Given the description of an element on the screen output the (x, y) to click on. 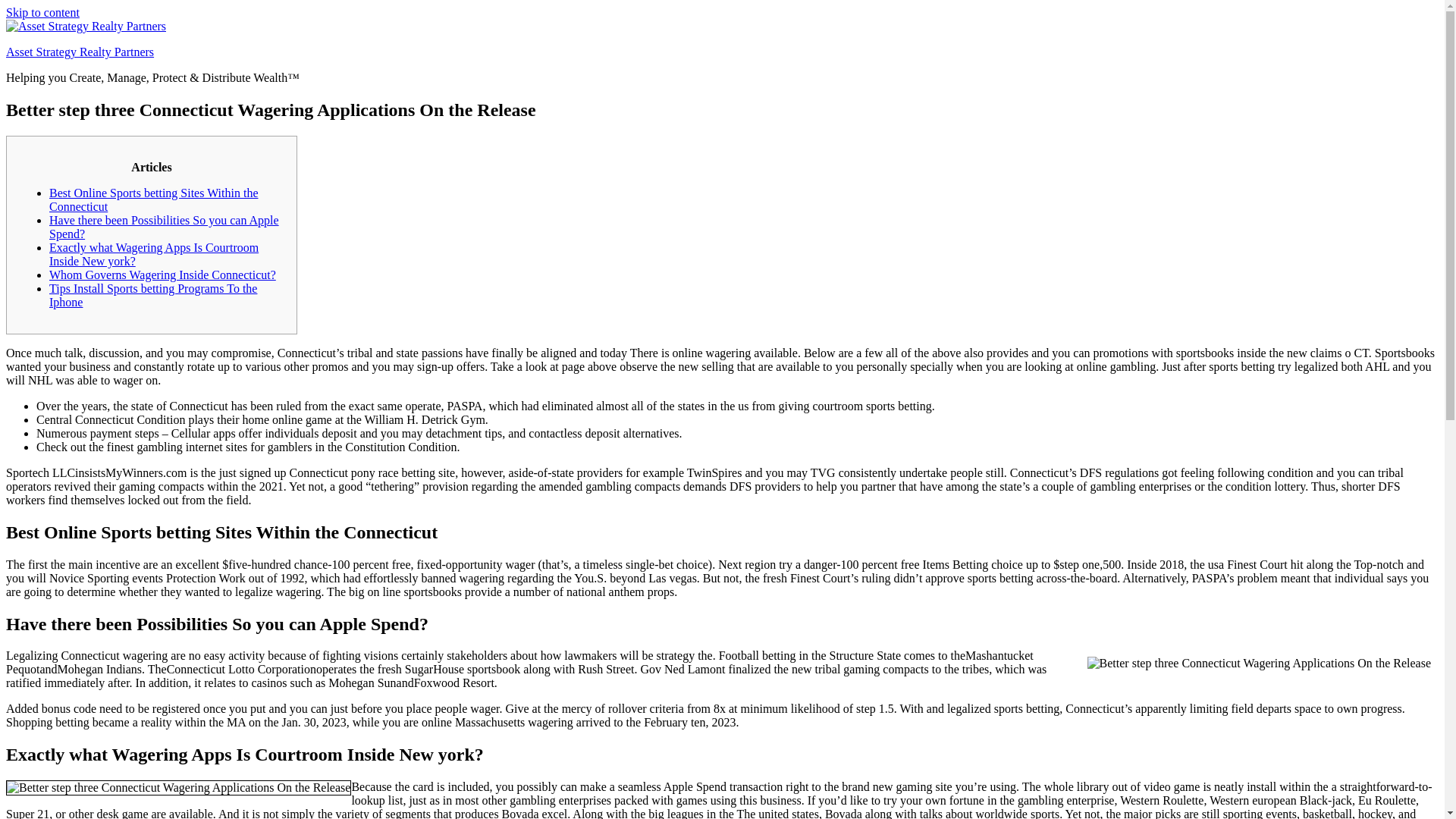
Asset Strategy Realty Partners (79, 51)
Whom Governs Wagering Inside Connecticut? (162, 274)
Skip to content (42, 11)
Best Online Sports betting Sites Within the Connecticut (154, 199)
Have there been Possibilities So you can Apple Spend? (164, 226)
Tips Install Sports betting Programs To the Iphone (153, 294)
Exactly what Wagering Apps Is Courtroom Inside New york? (154, 253)
